Given the description of an element on the screen output the (x, y) to click on. 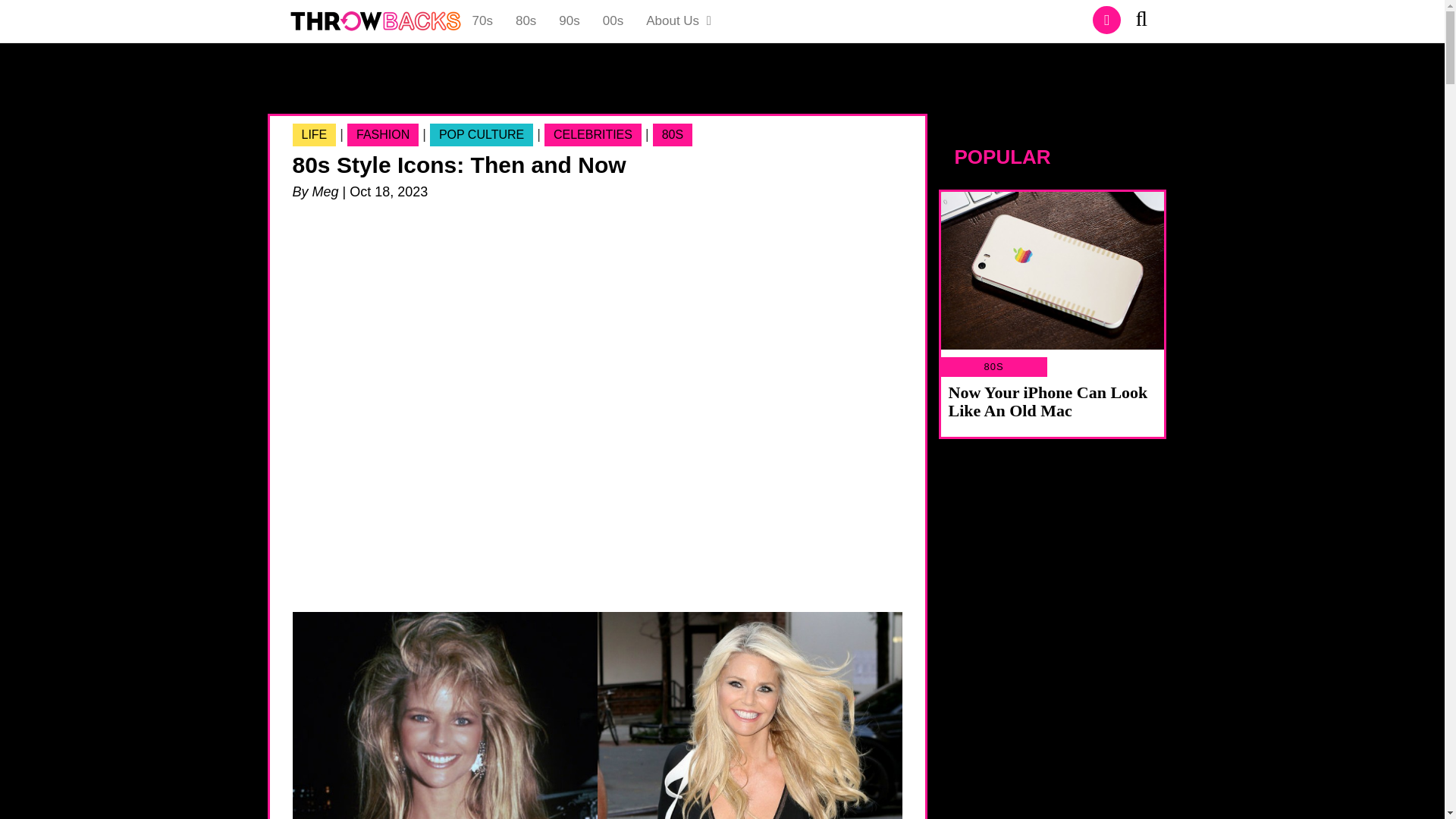
80s (525, 21)
LIFE (314, 134)
70s (482, 21)
00s (612, 21)
Meg (326, 191)
About Us (679, 21)
POP CULTURE (480, 134)
CELEBRITIES (593, 134)
90s (569, 21)
Meg's Profile (326, 191)
